Given the description of an element on the screen output the (x, y) to click on. 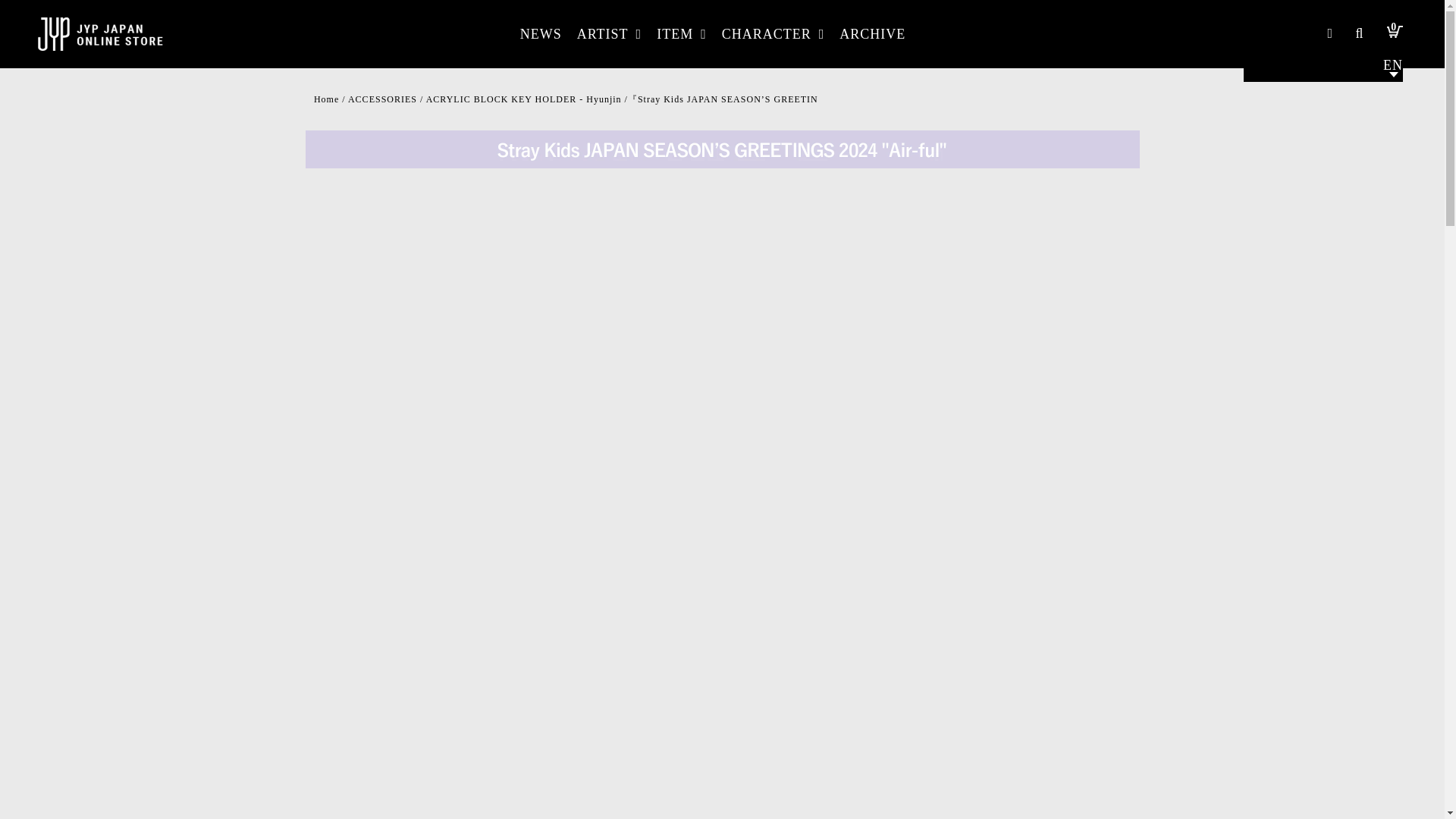
ACCESSORIES (381, 99)
Home (326, 99)
